Given the description of an element on the screen output the (x, y) to click on. 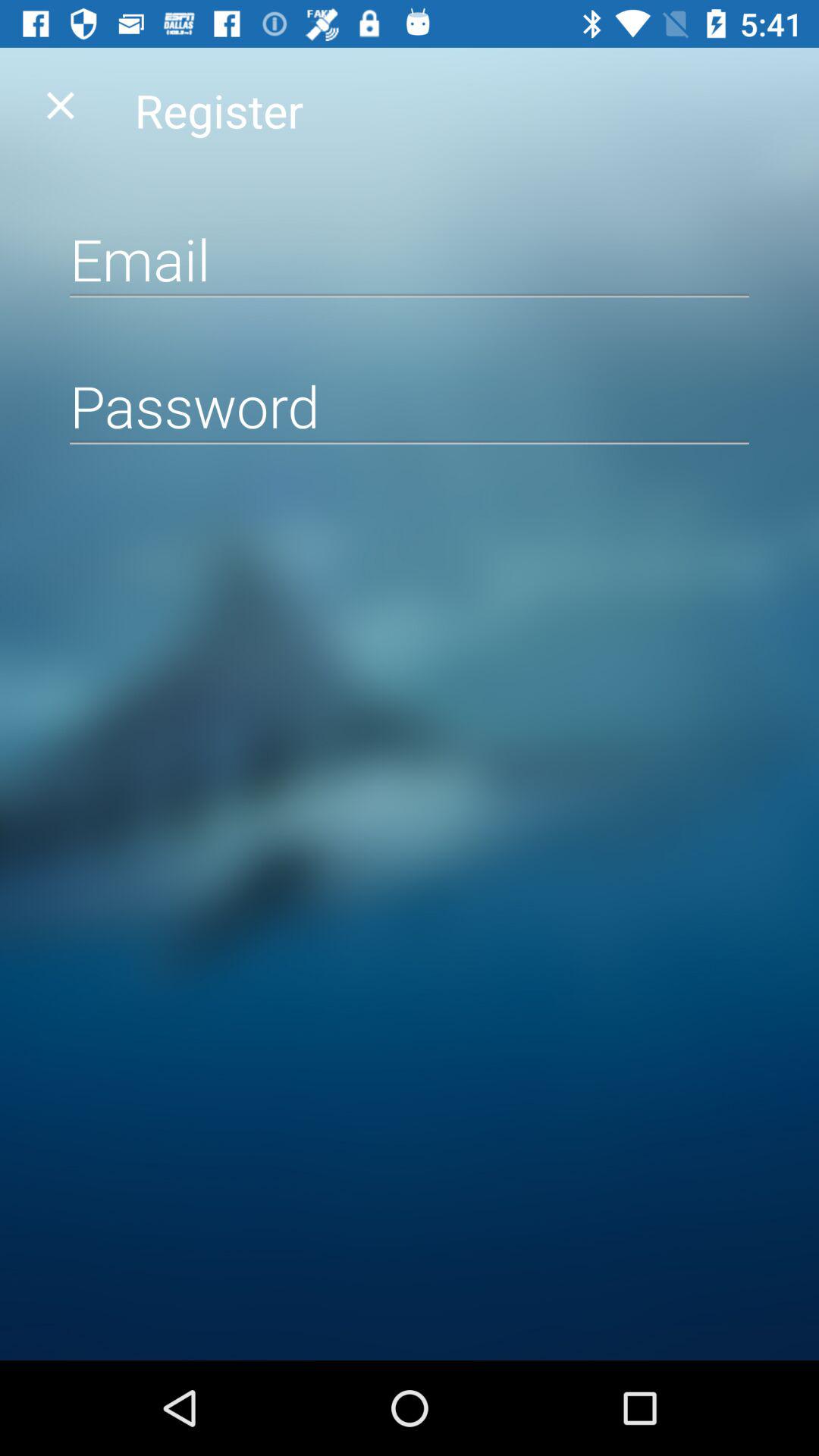
enter email address (409, 258)
